Given the description of an element on the screen output the (x, y) to click on. 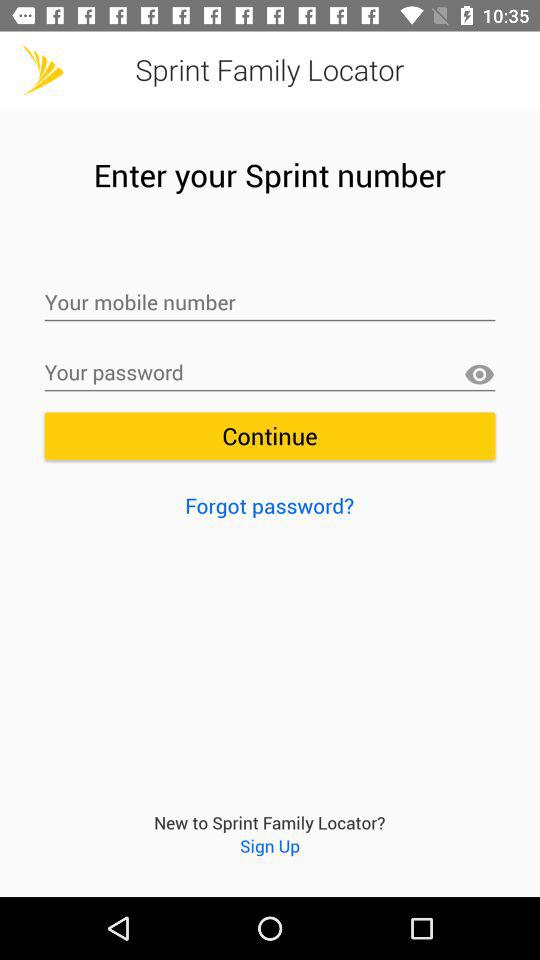
choose the continue icon (269, 435)
